Given the description of an element on the screen output the (x, y) to click on. 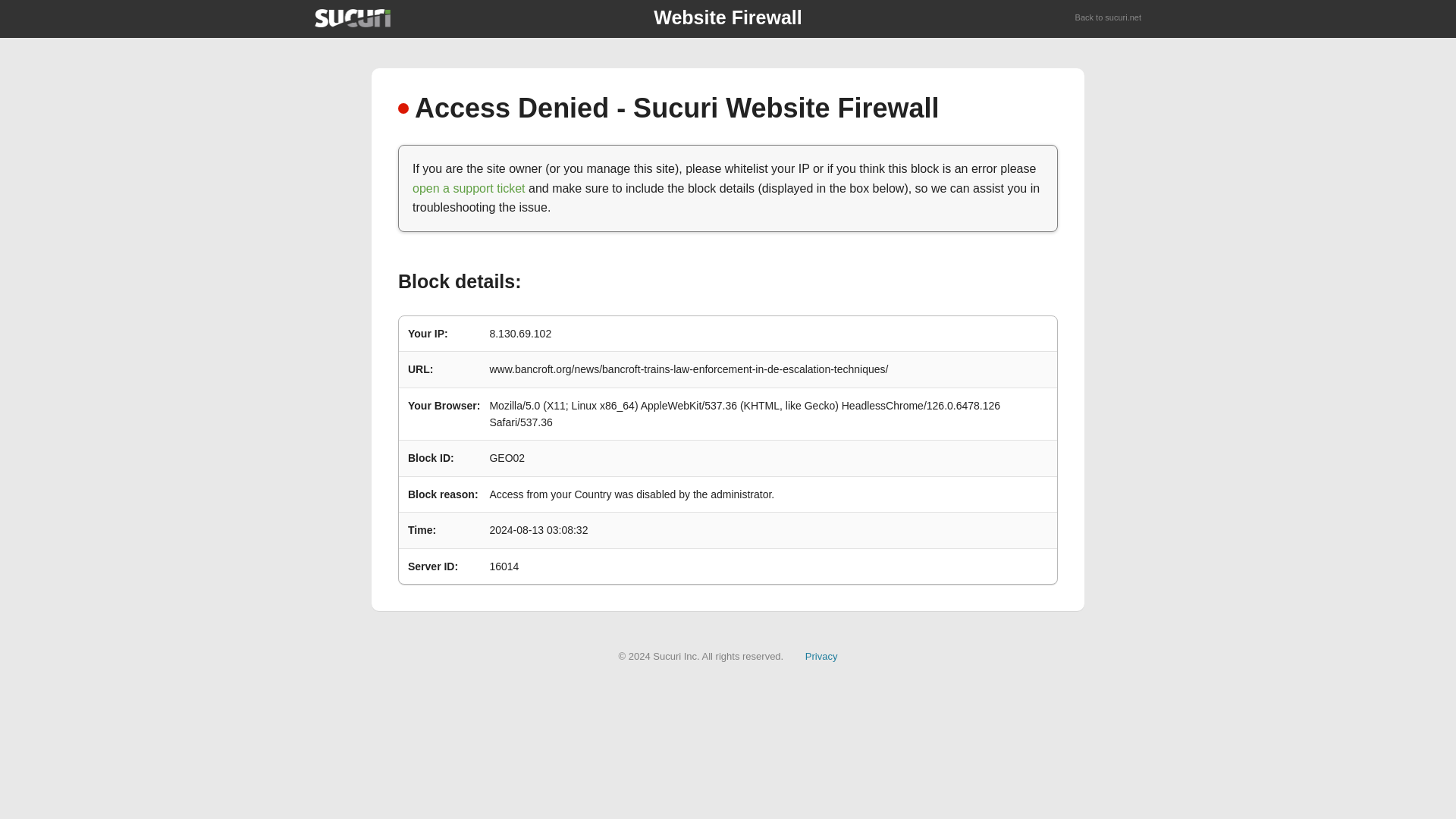
Back to sucuri.net (1108, 18)
open a support ticket (468, 187)
Privacy (821, 655)
